Given the description of an element on the screen output the (x, y) to click on. 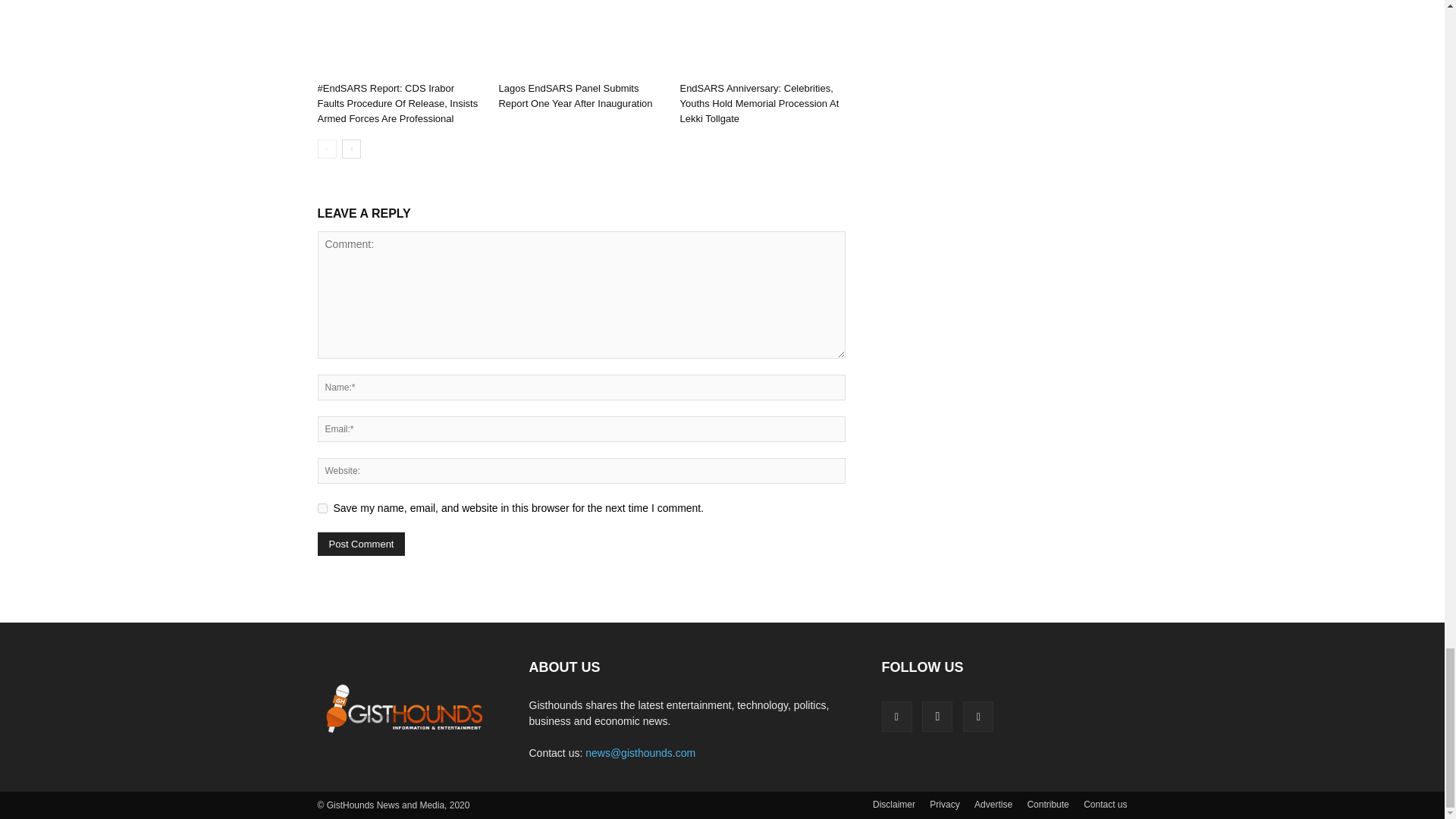
Post Comment (360, 544)
yes (321, 508)
